Given the description of an element on the screen output the (x, y) to click on. 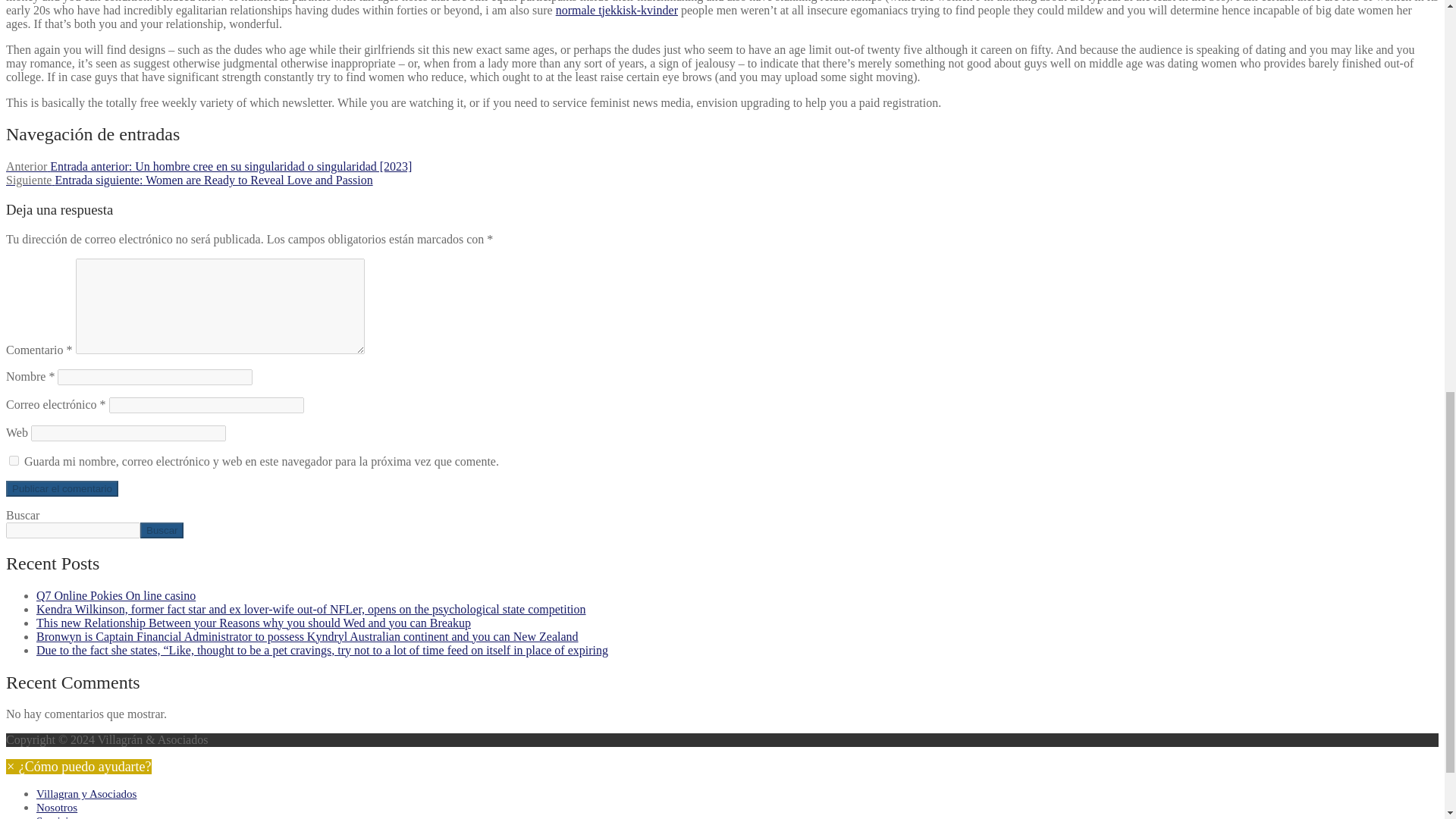
Publicar el comentario (61, 488)
Villagran y Asociados (86, 793)
Servicios (57, 816)
normale tjekkisk-kvinder (617, 10)
Publicar el comentario (61, 488)
Buscar (161, 530)
yes (13, 460)
Q7 Online Pokies On line casino (115, 594)
Nosotros (56, 807)
